Given the description of an element on the screen output the (x, y) to click on. 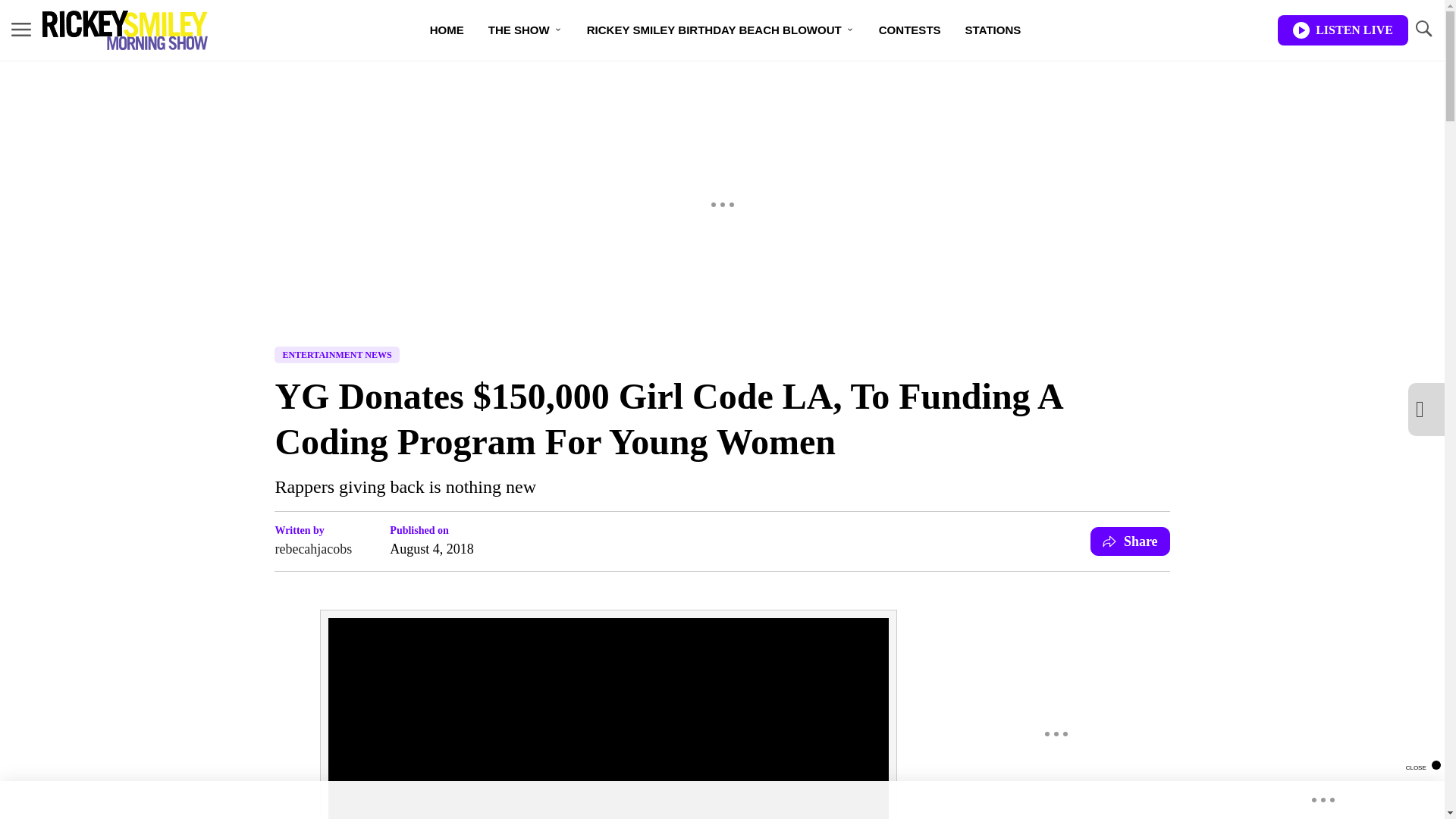
MENU (20, 29)
ENTERTAINMENT NEWS (336, 354)
STATIONS (993, 30)
rebecahjacobs (313, 548)
MENU (20, 30)
HOME (446, 30)
CONTESTS (909, 30)
THE SHOW (525, 30)
LISTEN LIVE (1342, 30)
Stations (993, 30)
